Given the description of an element on the screen output the (x, y) to click on. 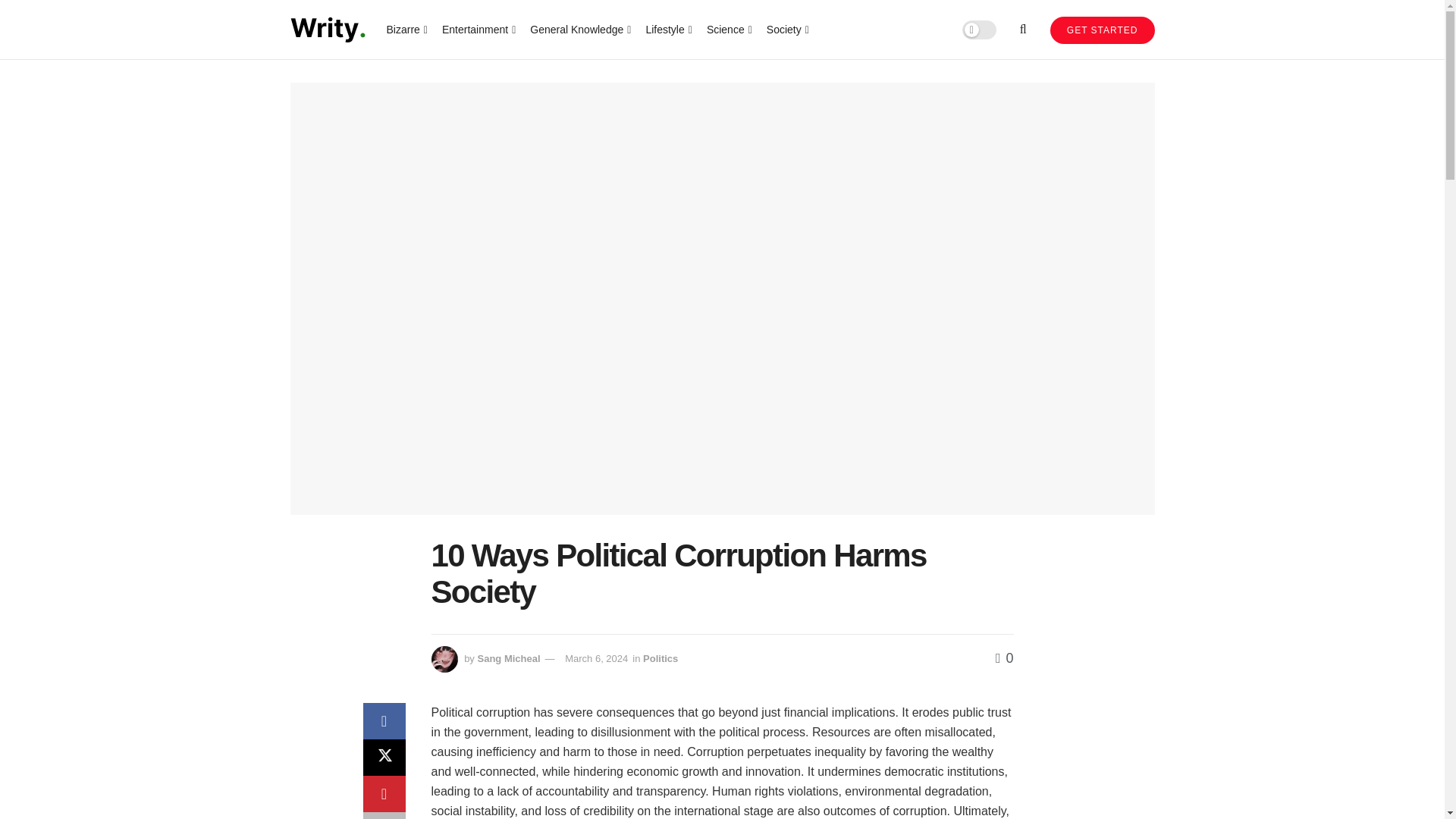
General Knowledge (578, 29)
Lifestyle (666, 29)
Entertainment (477, 29)
Science (727, 29)
GET STARTED (1101, 30)
Bizarre (406, 29)
Society (786, 29)
